Given the description of an element on the screen output the (x, y) to click on. 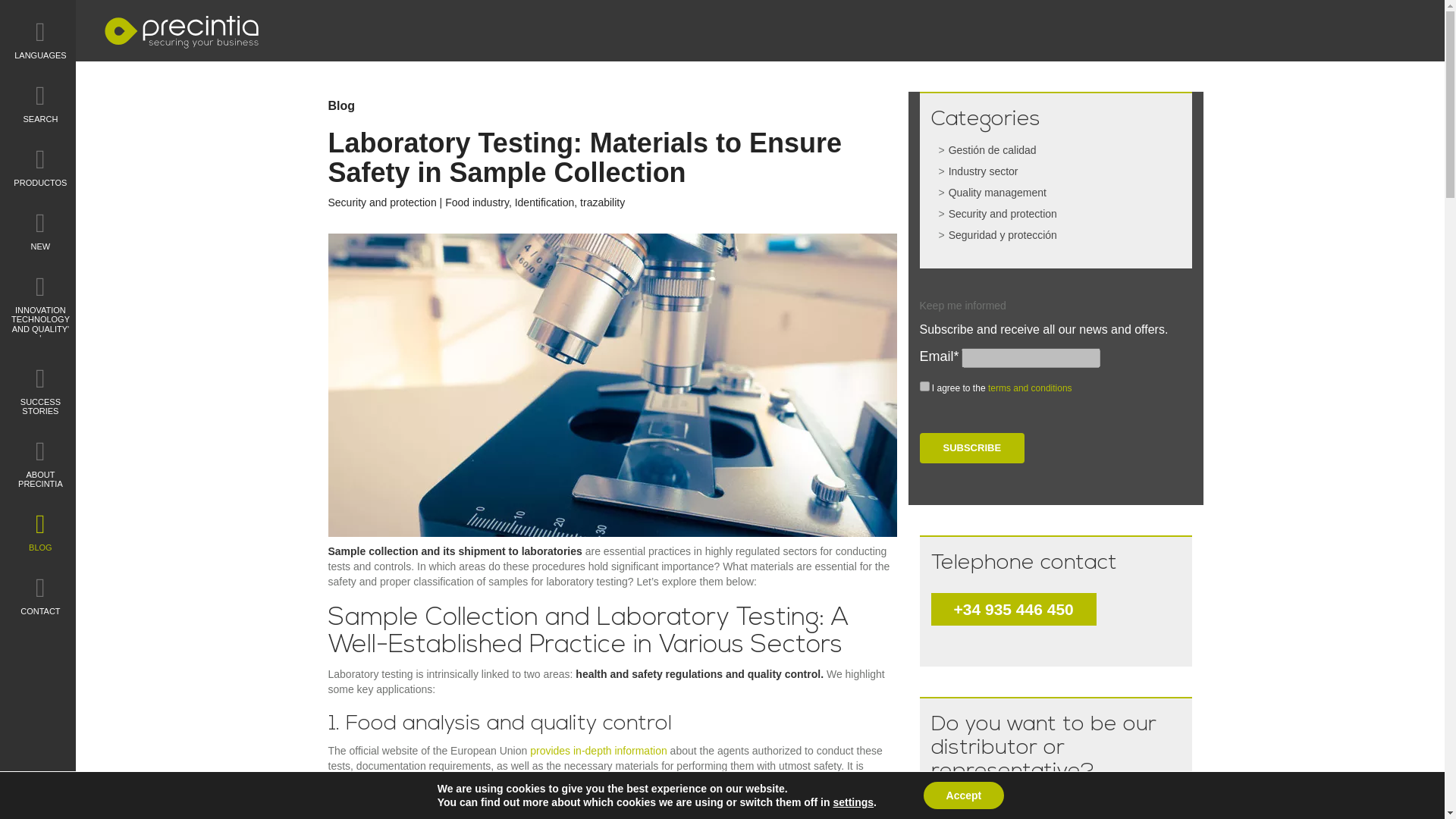
PRODUCTOS (40, 167)
INNOVATION TECHNOLOGY AND QUALITY' ' (40, 307)
ABOUT PRECINTIA (40, 462)
SUCCESS STORIES (40, 389)
CONTACT (40, 595)
BLOG (40, 531)
on (923, 386)
Subscribe (971, 448)
SEARCH (40, 103)
LANGUAGES (40, 39)
